Given the description of an element on the screen output the (x, y) to click on. 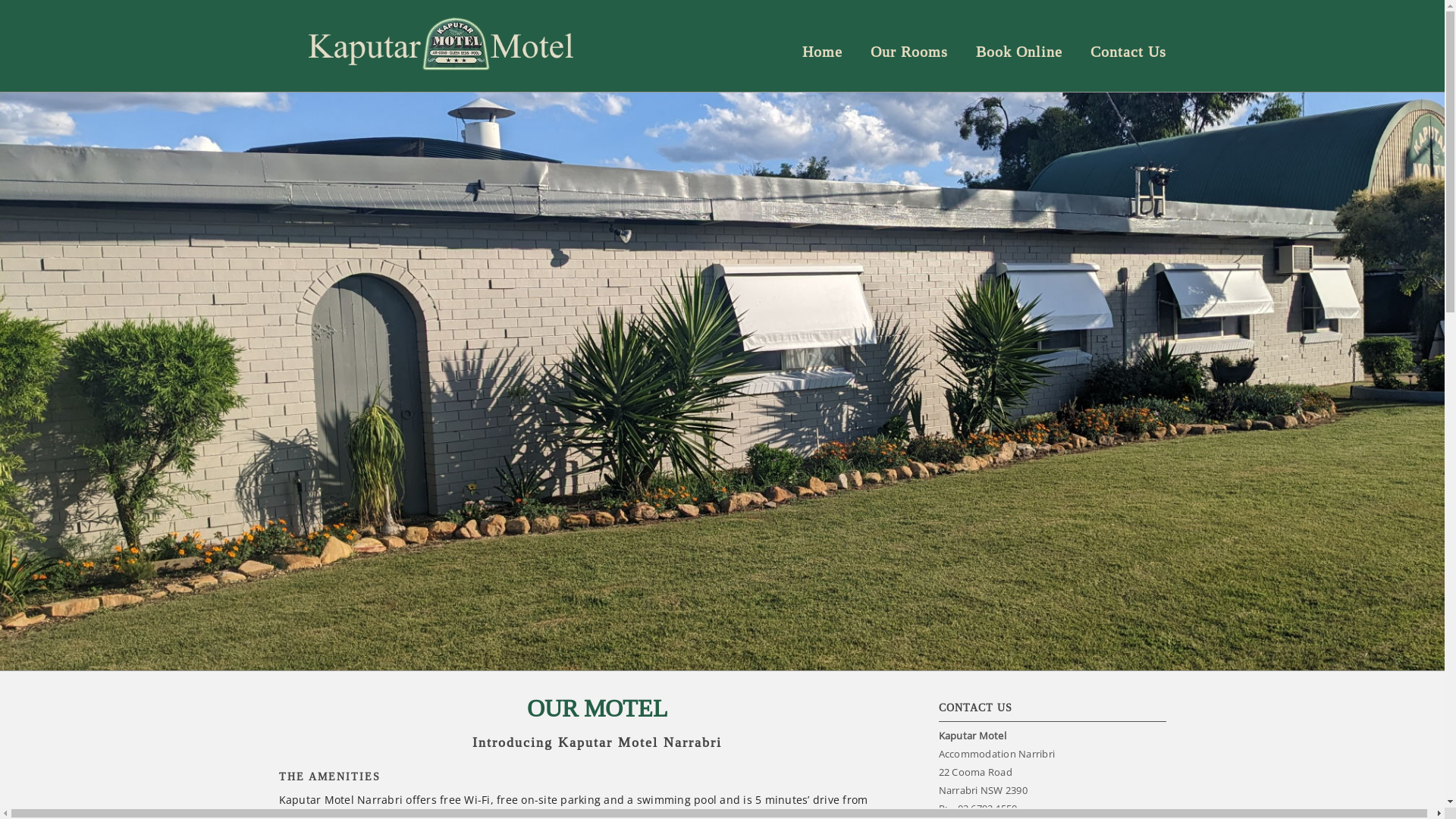
Home Element type: text (822, 52)
Book Online Element type: text (1018, 52)
Contact Us Element type: text (1128, 52)
Our Rooms Element type: text (908, 52)
